Given the description of an element on the screen output the (x, y) to click on. 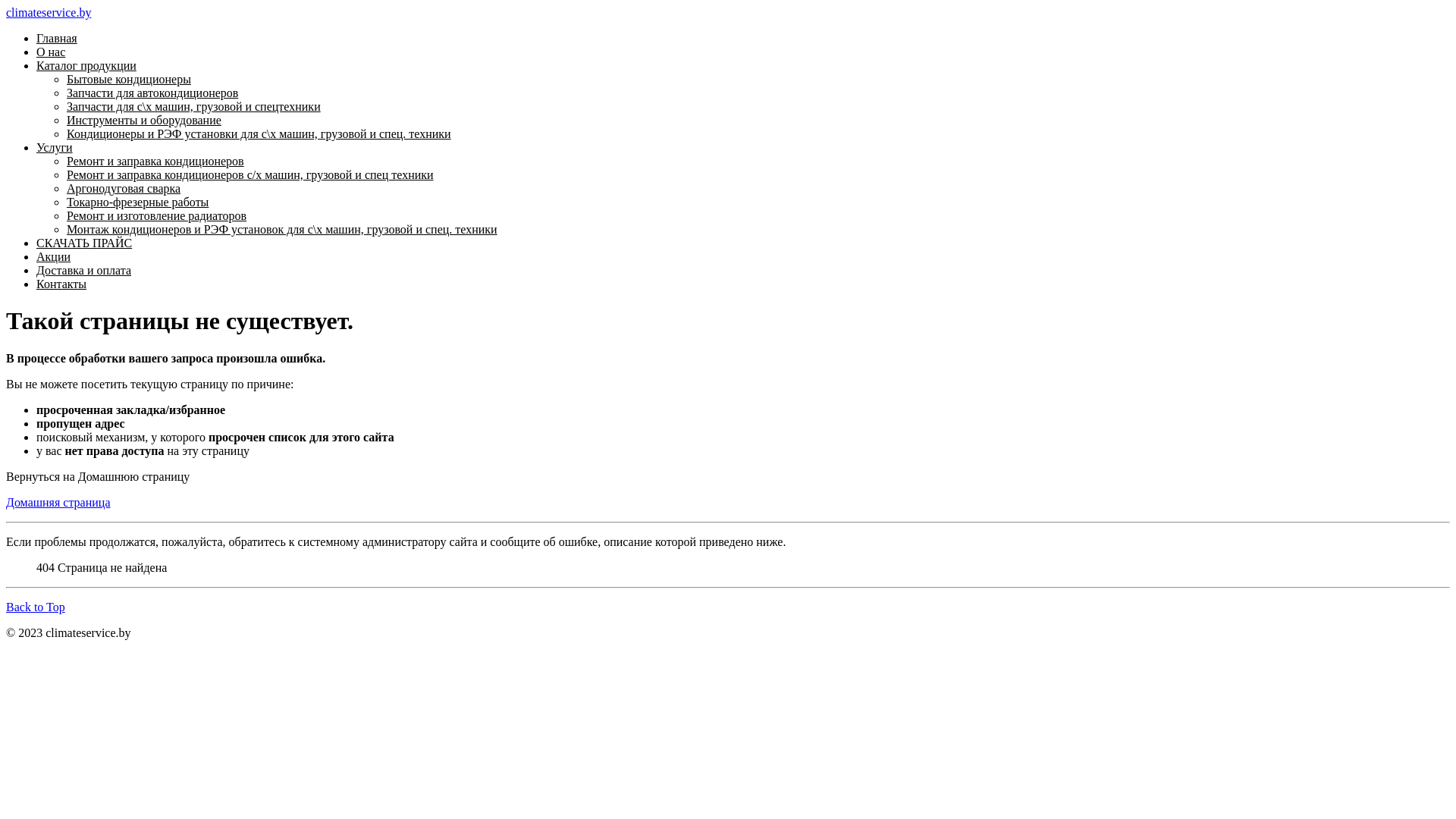
Back to Top Element type: text (35, 606)
climateservice.by Element type: text (48, 12)
